Given the description of an element on the screen output the (x, y) to click on. 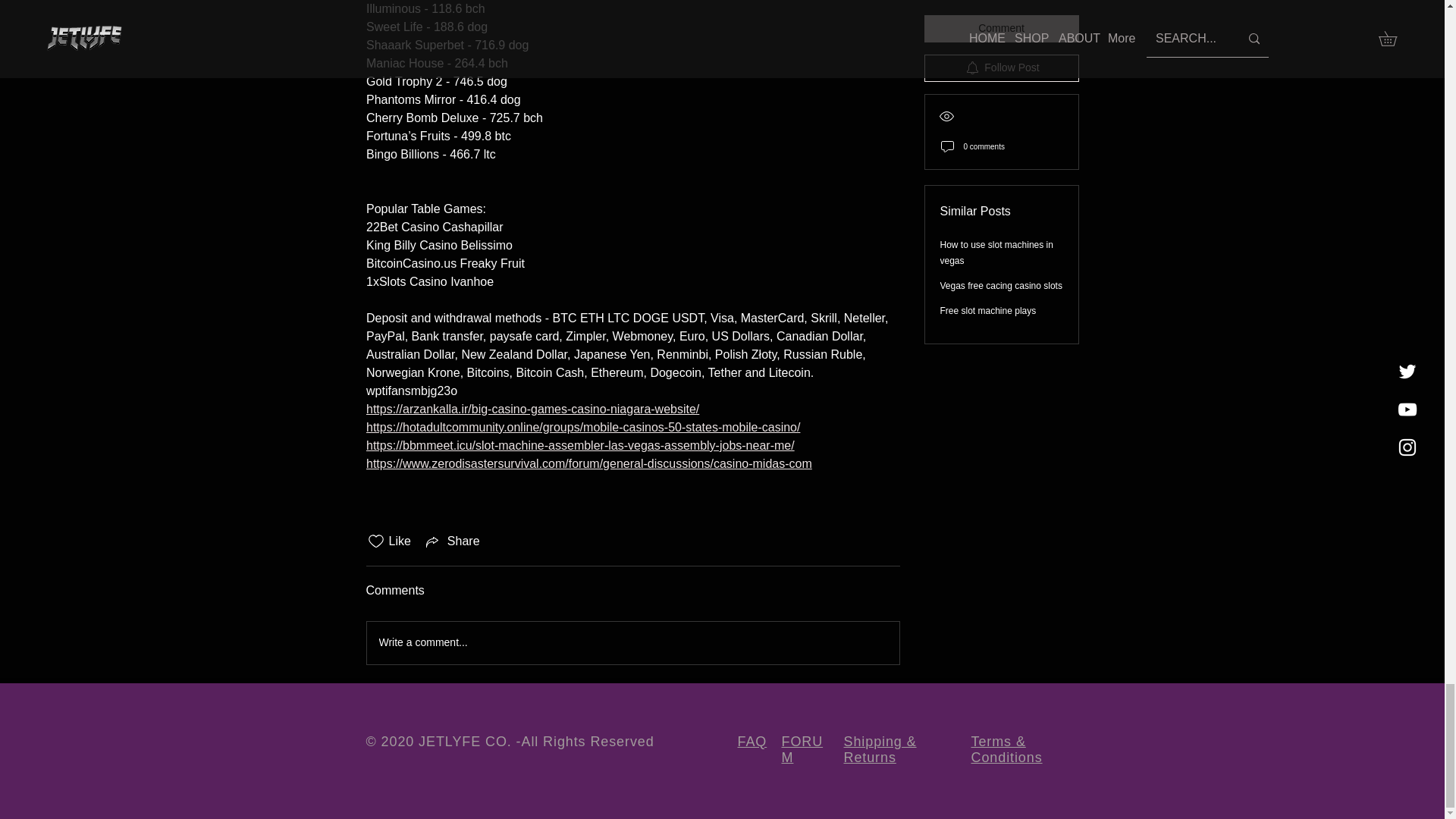
Write a comment... (632, 642)
FORUM (801, 748)
FAQ (751, 741)
Share (451, 541)
